Given the description of an element on the screen output the (x, y) to click on. 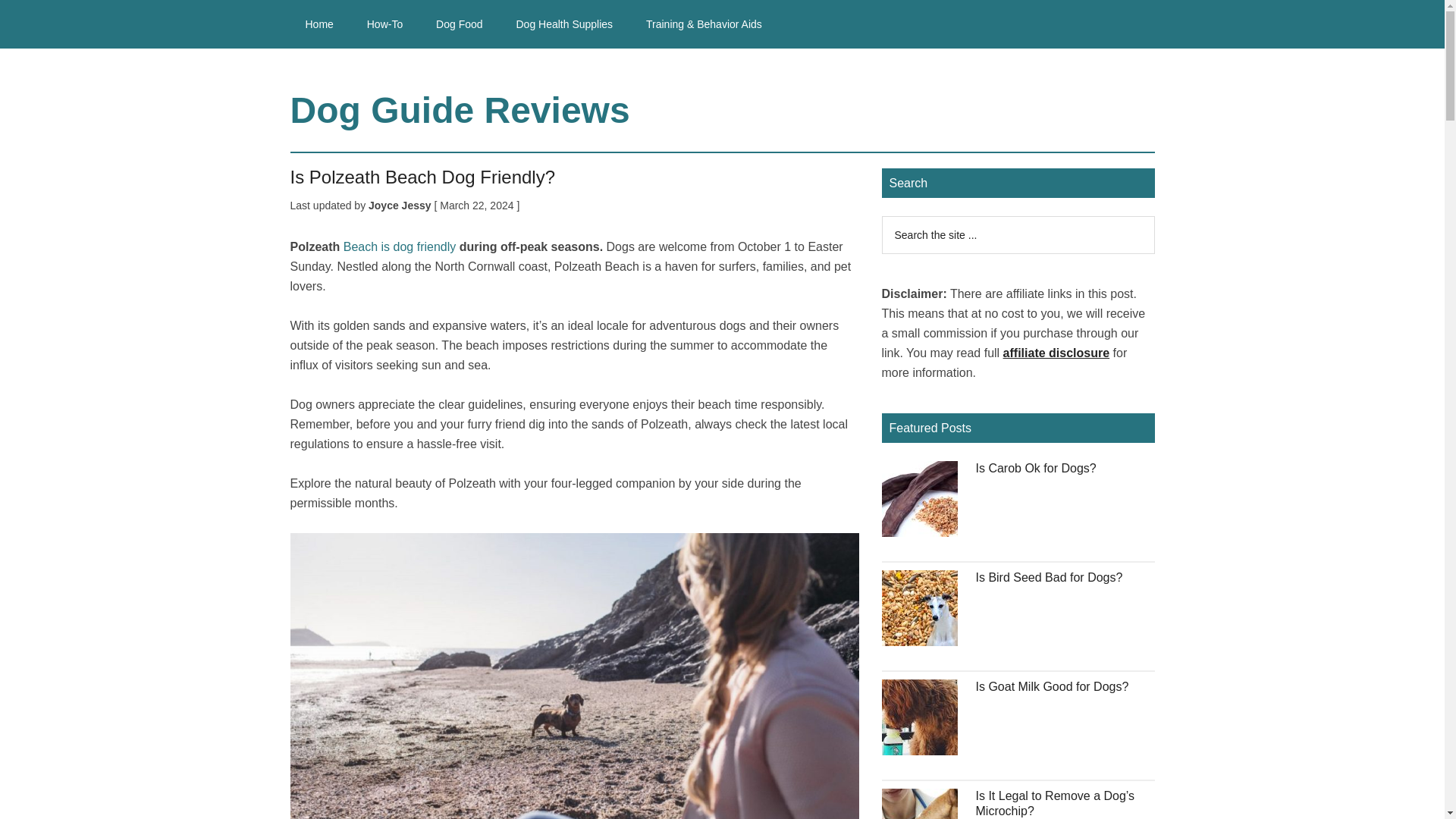
How-To (384, 24)
Dog Guide Reviews (458, 110)
Is Bird Seed Bad for Dogs? (1048, 576)
Beach is dog friendly (400, 246)
affiliate disclosure (1056, 352)
Dog Health Supplies (563, 24)
Is Goat Milk Good for Dogs? (1051, 686)
Is Carob Ok for Dogs? (1035, 468)
